Given the description of an element on the screen output the (x, y) to click on. 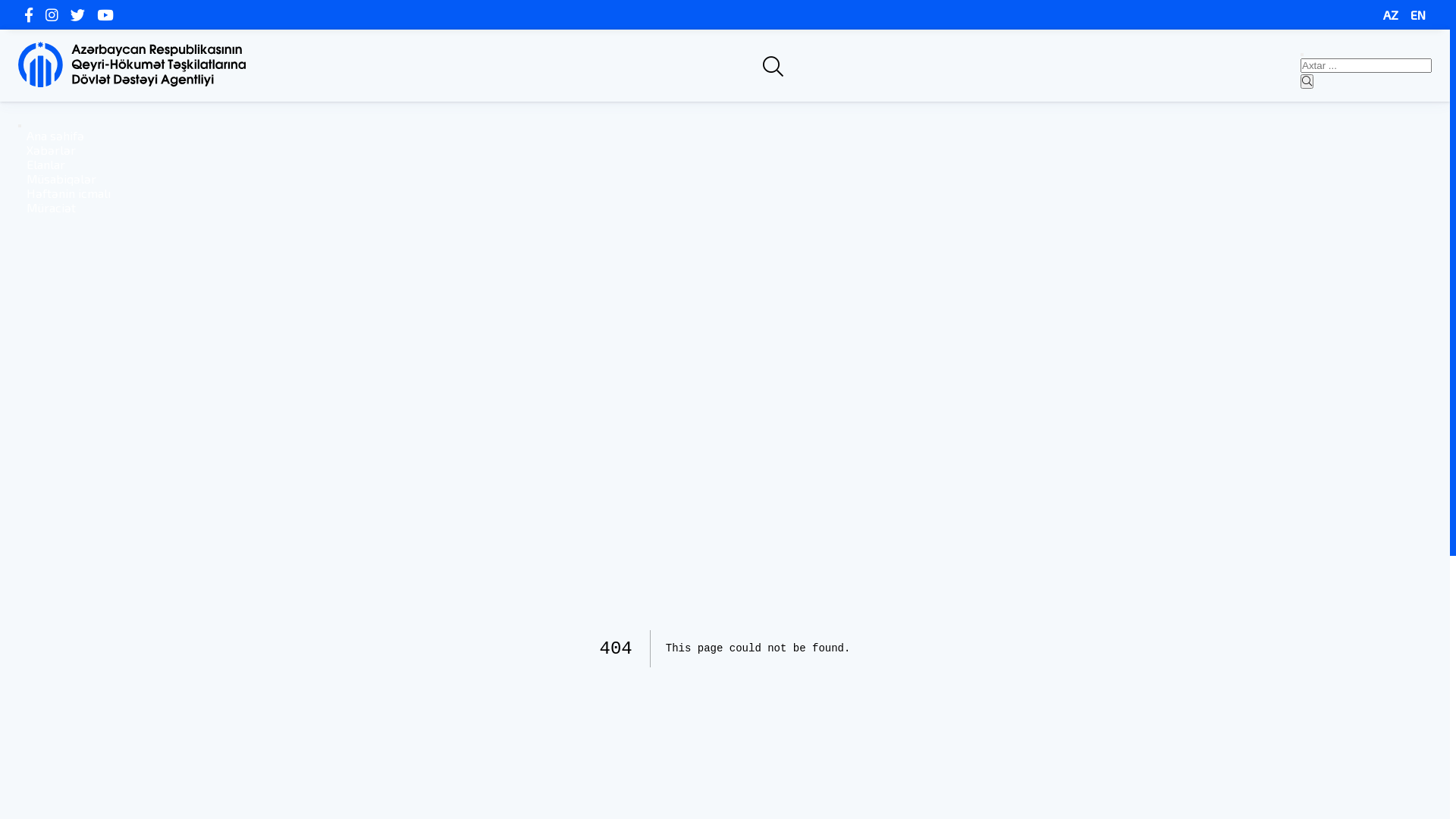
Elanlar Element type: text (45, 163)
EN Element type: text (1417, 14)
AZ Element type: text (1390, 14)
